Given the description of an element on the screen output the (x, y) to click on. 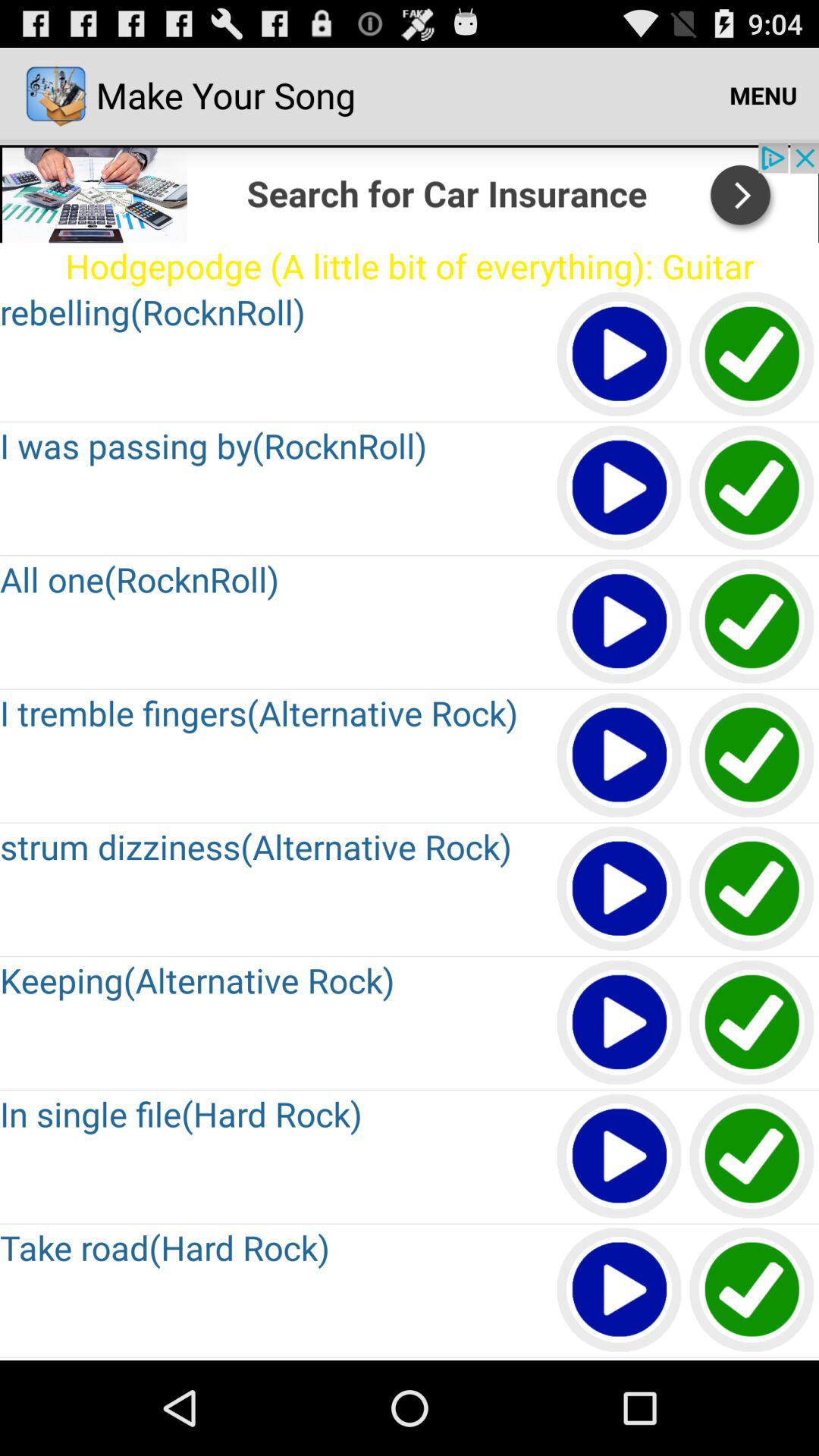
play button (619, 889)
